Given the description of an element on the screen output the (x, y) to click on. 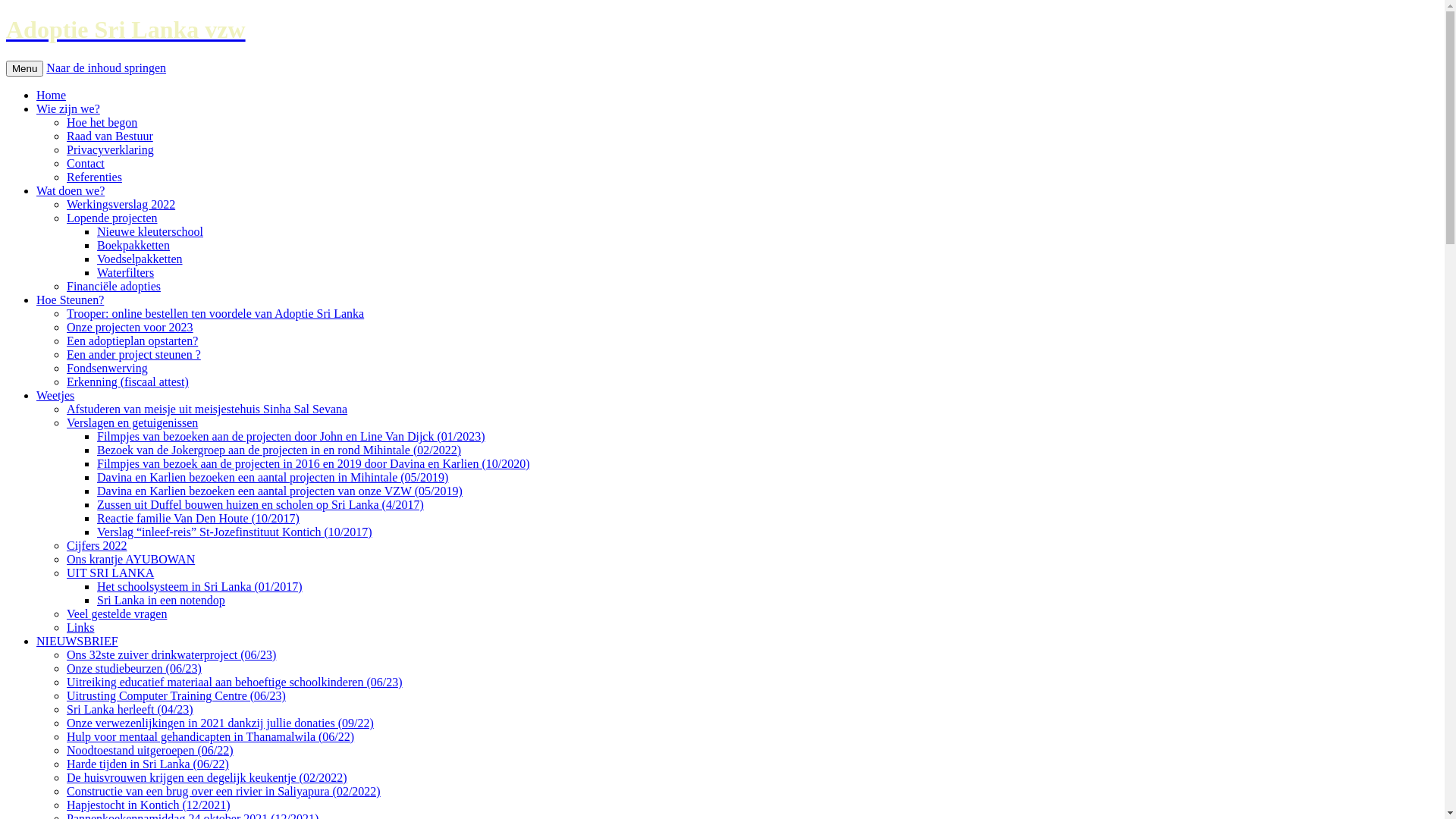
Onze projecten voor 2023 Element type: text (129, 326)
Naar de inhoud springen Element type: text (106, 67)
UIT SRI LANKA Element type: text (109, 572)
Nieuwe kleuterschool Element type: text (150, 231)
Voedselpakketten Element type: text (139, 258)
Reactie familie Van Den Houte (10/2017) Element type: text (198, 517)
Privacyverklaring Element type: text (109, 149)
Een ander project steunen ? Element type: text (133, 354)
Raad van Bestuur Element type: text (109, 135)
Afstuderen van meisje uit meisjestehuis Sinha Sal Sevana Element type: text (206, 408)
Boekpakketten Element type: text (133, 244)
Een adoptieplan opstarten? Element type: text (131, 340)
Contact Element type: text (85, 162)
Noodtoestand uitgeroepen (06/22) Element type: text (149, 749)
Hapjestocht in Kontich (12/2021) Element type: text (148, 804)
De huisvrouwen krijgen een degelijk keukentje (02/2022) Element type: text (206, 777)
Ons krantje AYUBOWAN Element type: text (130, 558)
Wie zijn we? Element type: text (68, 108)
Lopende projecten Element type: text (111, 217)
Menu Element type: text (24, 68)
Verslagen en getuigenissen Element type: text (131, 422)
Waterfilters Element type: text (125, 272)
Sri Lanka herleeft (04/23) Element type: text (129, 708)
Uitrusting Computer Training Centre (06/23) Element type: text (175, 695)
Adoptie Sri Lanka vzw Element type: text (722, 29)
NIEUWSBRIEF Element type: text (77, 640)
Werkingsverslag 2022 Element type: text (120, 203)
Weetjes Element type: text (55, 395)
Onze studiebeurzen (06/23) Element type: text (133, 668)
Referenties Element type: text (94, 176)
Erkenning (fiscaal attest) Element type: text (127, 381)
Hoe Steunen? Element type: text (69, 299)
Hoe het begon Element type: text (101, 122)
Hulp voor mentaal gehandicapten in Thanamalwila (06/22) Element type: text (210, 736)
Fondsenwerving Element type: text (106, 367)
Harde tijden in Sri Lanka (06/22) Element type: text (147, 763)
Cijfers 2022 Element type: text (96, 545)
Het schoolsysteem in Sri Lanka (01/2017) Element type: text (199, 586)
Links Element type: text (80, 627)
Ons 32ste zuiver drinkwaterproject (06/23) Element type: text (171, 654)
Home Element type: text (50, 94)
Wat doen we? Element type: text (70, 190)
Trooper: online bestellen ten voordele van Adoptie Sri Lanka Element type: text (215, 313)
Veel gestelde vragen Element type: text (116, 613)
Sri Lanka in een notendop Element type: text (161, 599)
